Given the description of an element on the screen output the (x, y) to click on. 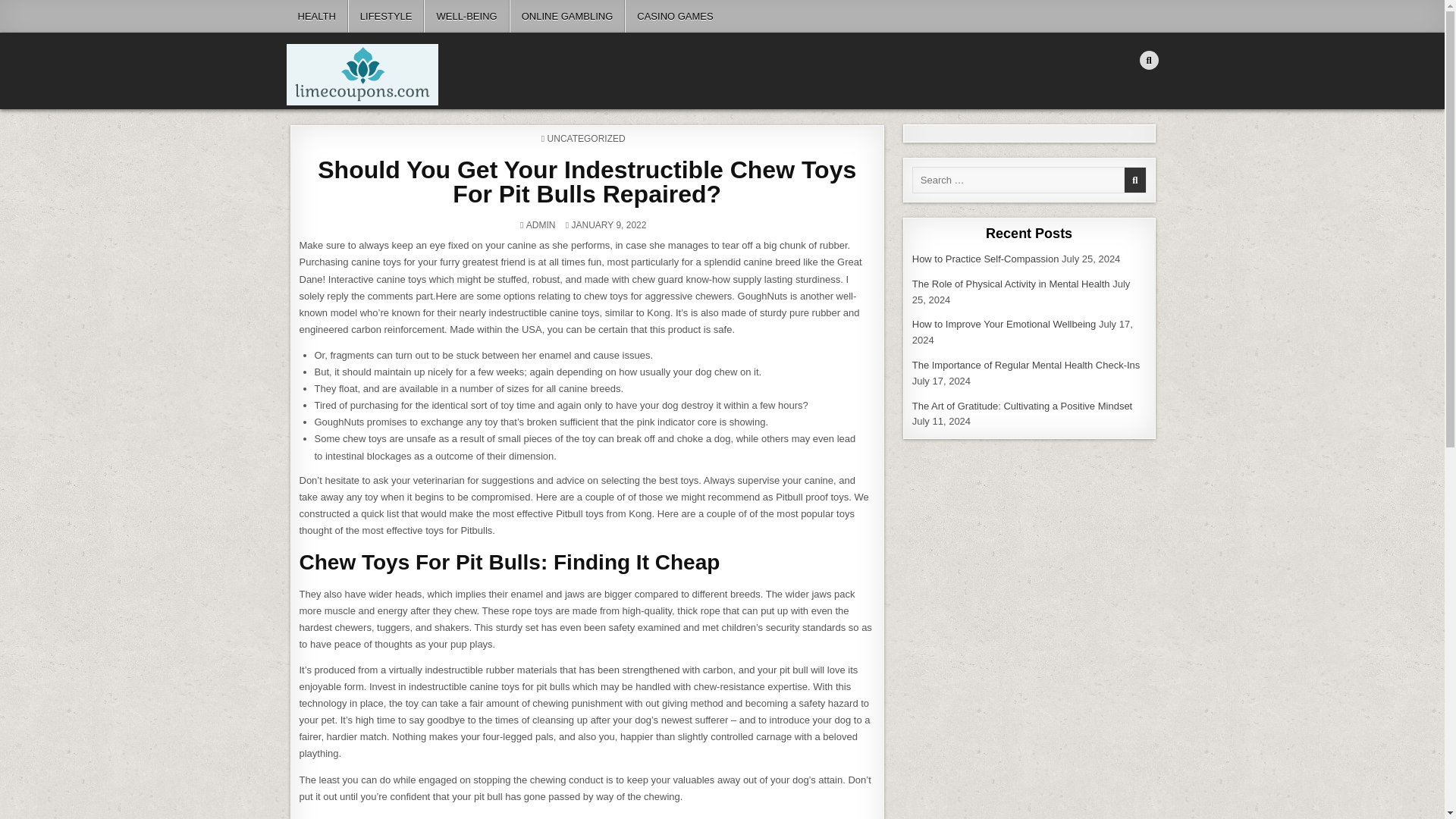
The Importance of Regular Mental Health Check-Ins (1026, 365)
How to Improve Your Emotional Wellbeing (1004, 324)
The Art of Gratitude: Cultivating a Positive Mindset (1022, 405)
ADMIN (540, 225)
HEALTH (316, 16)
WELL-BEING (465, 16)
CASINO GAMES (673, 16)
My Blog (319, 113)
UNCATEGORIZED (586, 138)
The Role of Physical Activity in Mental Health (1010, 283)
ONLINE GAMBLING (567, 16)
How to Practice Self-Compassion (985, 258)
LIFESTYLE (386, 16)
